Given the description of an element on the screen output the (x, y) to click on. 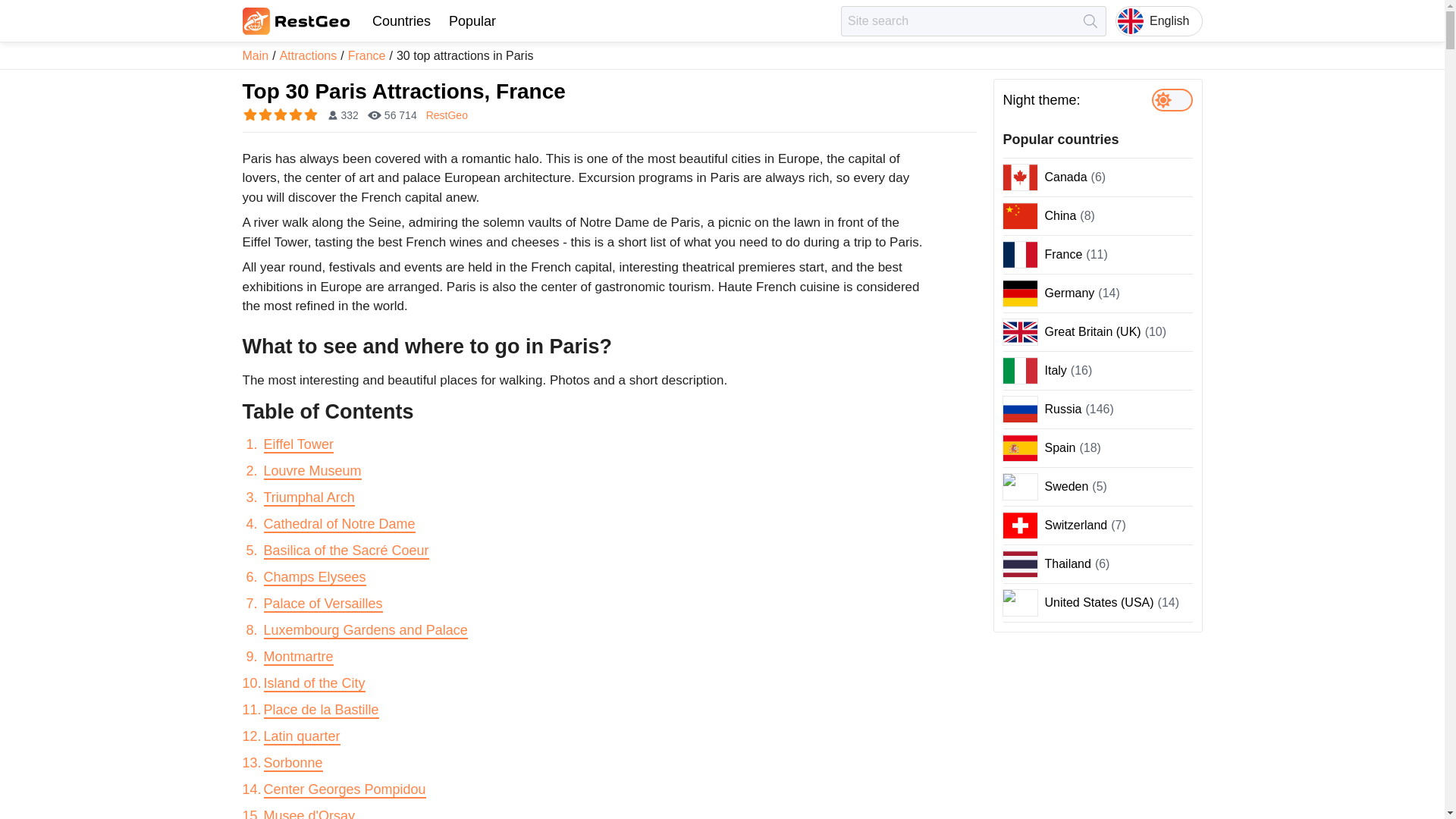
Attractions (308, 55)
Choose language (1158, 20)
Main (256, 55)
Montmartre (298, 657)
Louvre Museum (312, 471)
30 top attractions in Paris (465, 55)
RestGeo (446, 114)
Triumphal Arch (309, 497)
Eiffel Tower (298, 444)
Champs Elysees (314, 577)
Palace of Versailles (322, 604)
Palace of Versailles (322, 604)
Triumphal Arch (309, 497)
Go to main page (297, 21)
Island of the City (314, 683)
